Given the description of an element on the screen output the (x, y) to click on. 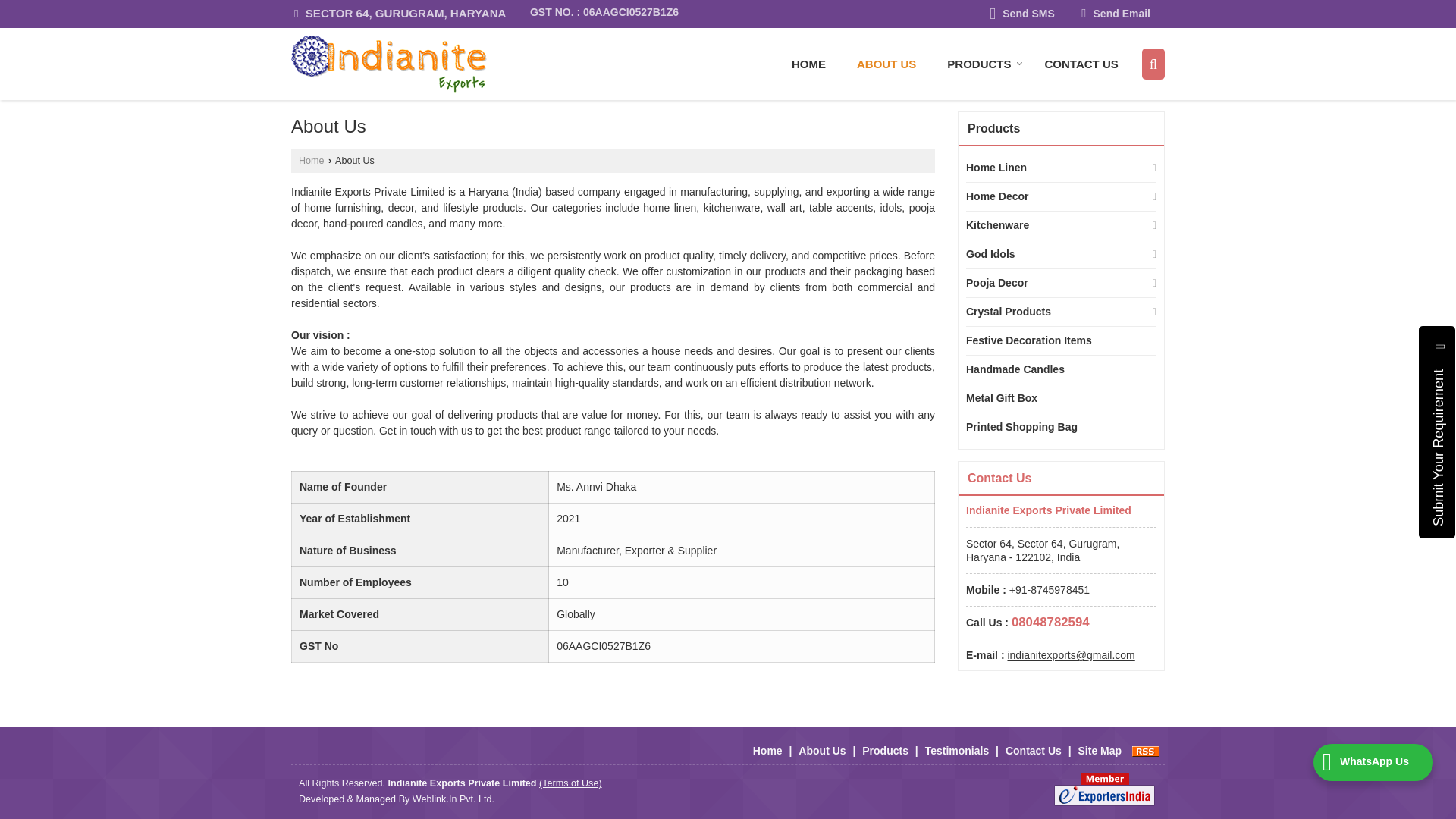
Products (979, 63)
PRODUCTS (979, 63)
Send SMS (1021, 14)
Send Email (1115, 14)
Home (808, 63)
HOME (808, 63)
About Us (886, 63)
Indianite Exports Private Limited (388, 64)
ABOUT US (886, 63)
